Given the description of an element on the screen output the (x, y) to click on. 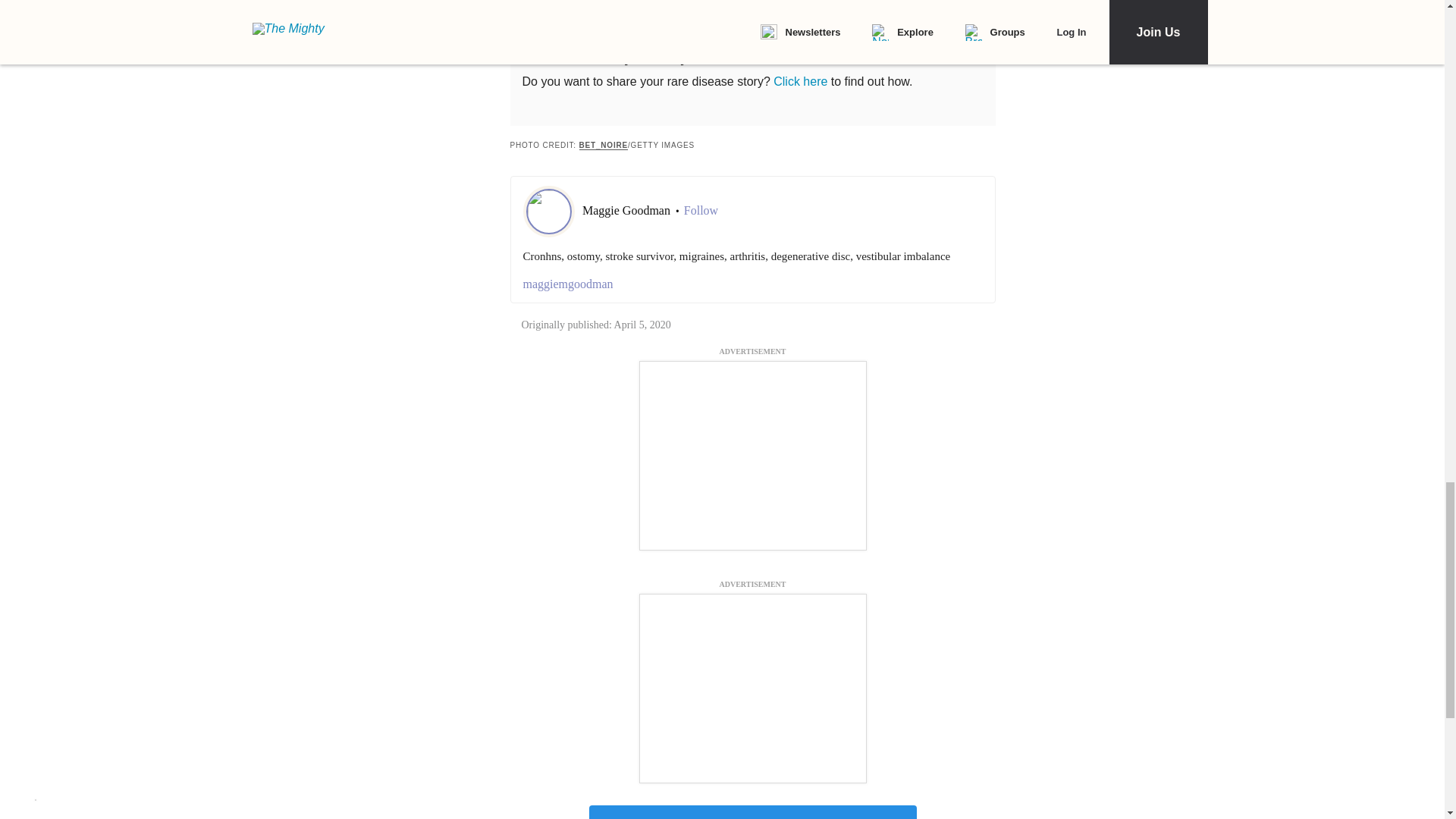
Follow (700, 210)
Maggie Goodman (627, 210)
maggiemgoodman (752, 284)
Click here (800, 81)
